Given the description of an element on the screen output the (x, y) to click on. 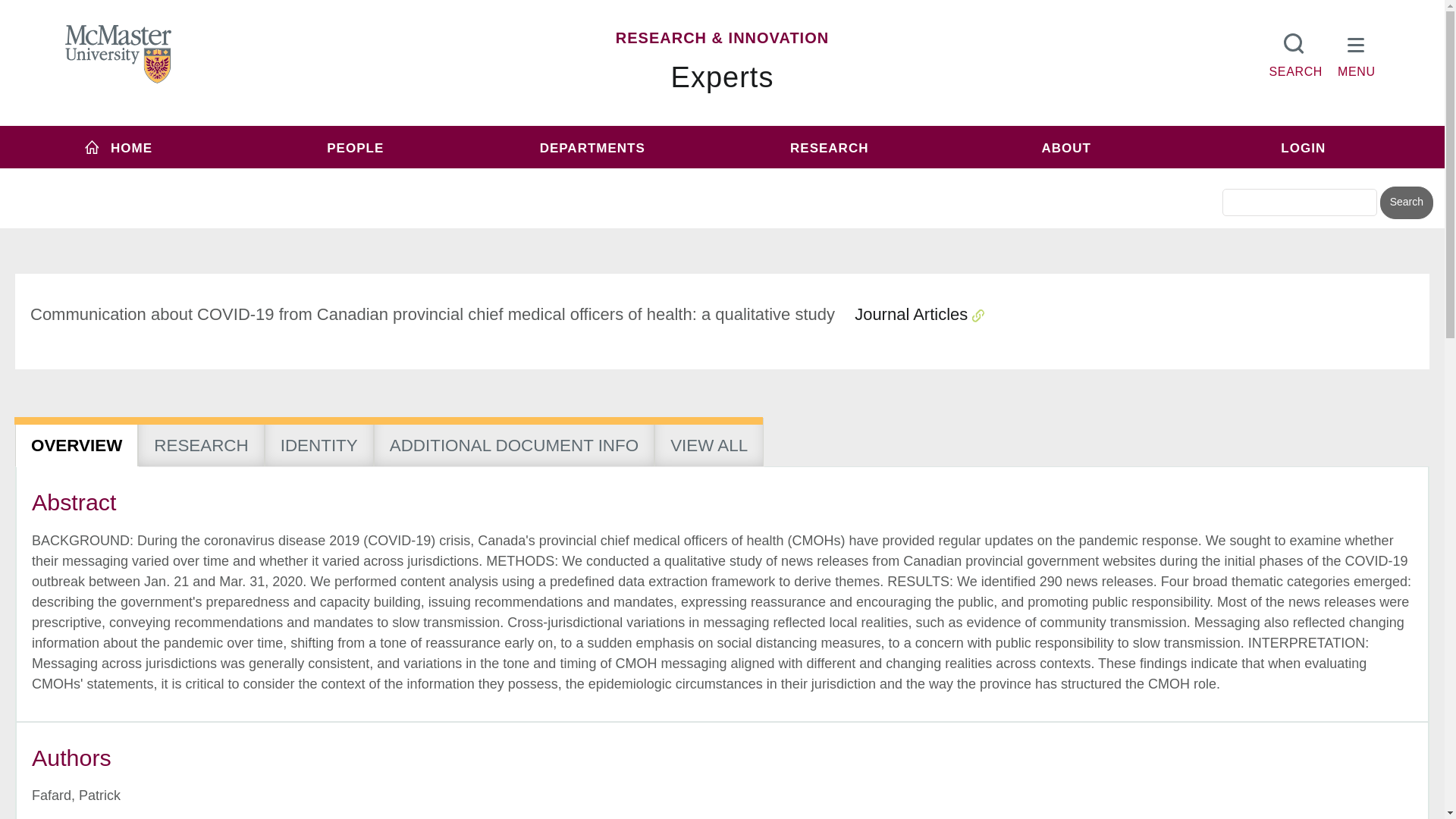
About menu item (1066, 147)
SEARCH (1295, 51)
Departments menu item (592, 147)
Search (1406, 202)
inurl:mcmaster.ca (829, 175)
Experts (722, 77)
People menu item (355, 147)
Home menu item (118, 147)
inurl:experts.mcmaster.ca (601, 175)
Research menu item (829, 147)
MENU (1356, 51)
MCMASTER LOGO (118, 54)
McMaster Univeristy Logo (118, 54)
